Given the description of an element on the screen output the (x, y) to click on. 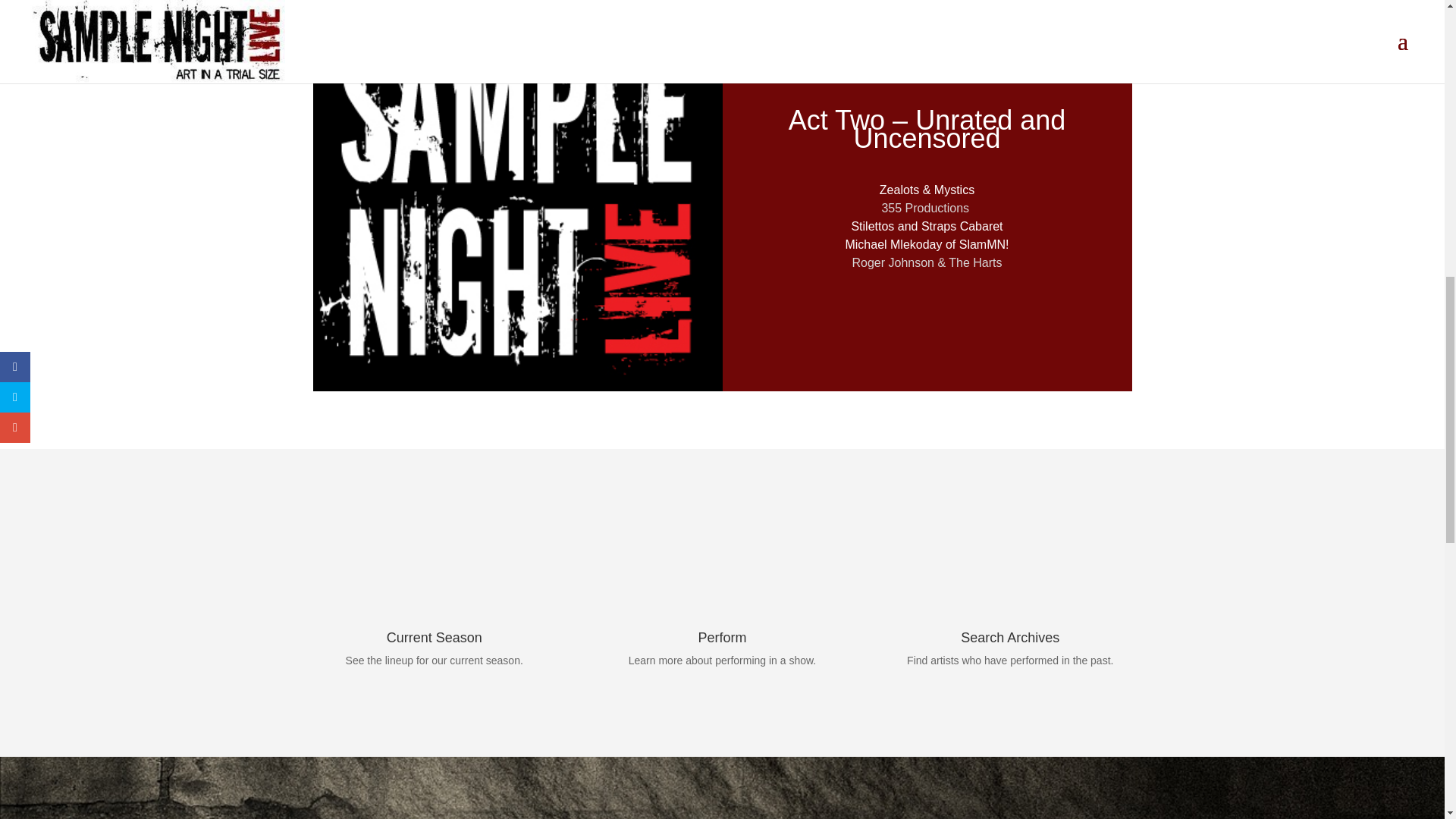
Current Season (434, 637)
Search Archives (1009, 637)
Perform (721, 637)
355 Productions  (926, 207)
